Given the description of an element on the screen output the (x, y) to click on. 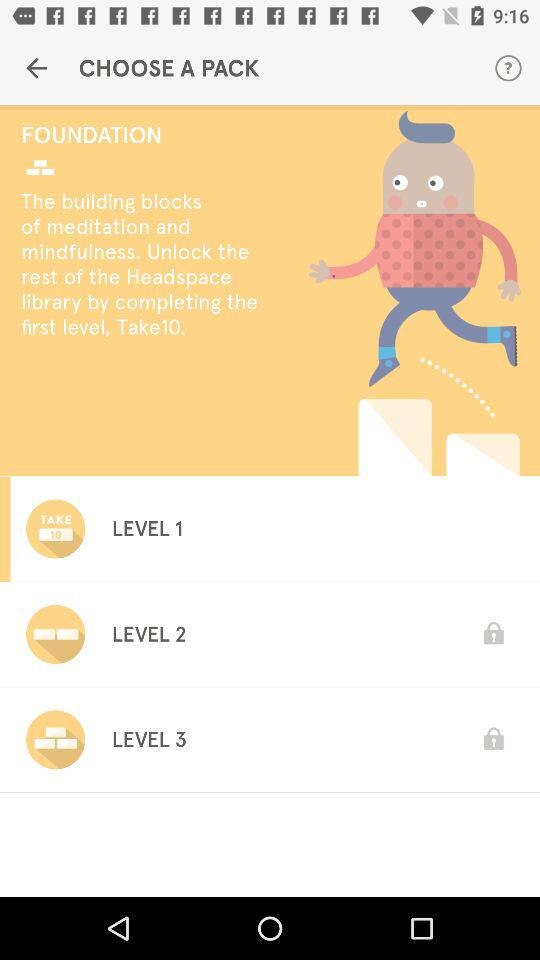
select the icon to the right of the choose a pack (508, 67)
